Given the description of an element on the screen output the (x, y) to click on. 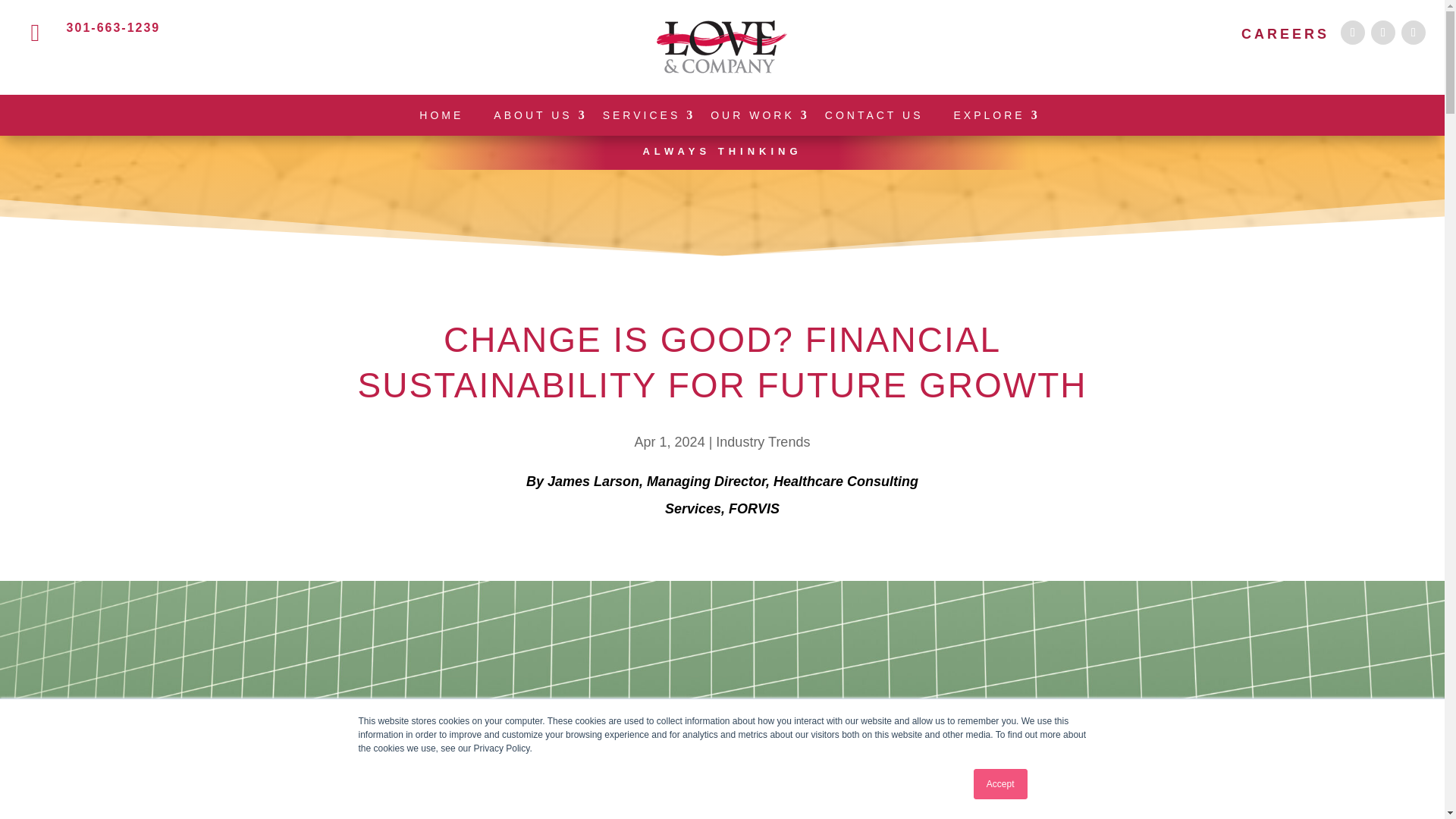
CAREERS (1285, 33)
Accept (1000, 784)
Follow on X (1382, 32)
Follow on LinkedIn (1412, 32)
301-663-1239 (113, 27)
Follow on Facebook (1352, 32)
